Given the description of an element on the screen output the (x, y) to click on. 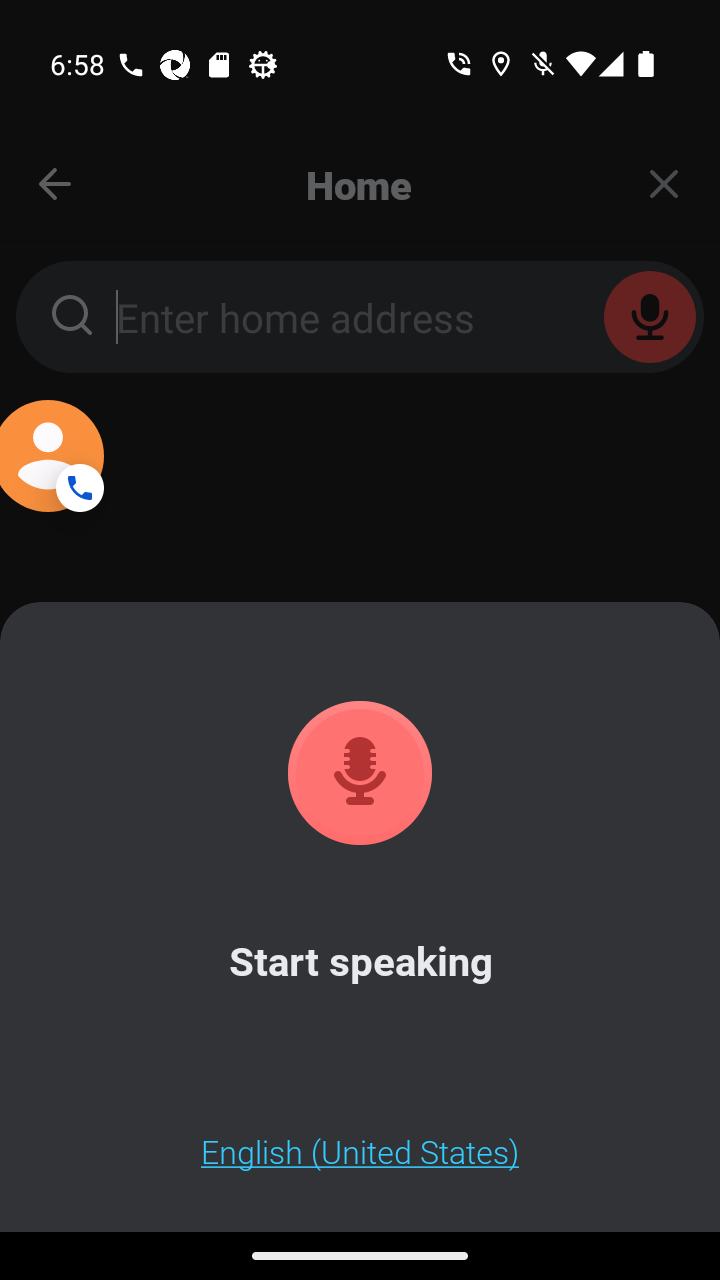
English (United States) (359, 1151)
